Given the description of an element on the screen output the (x, y) to click on. 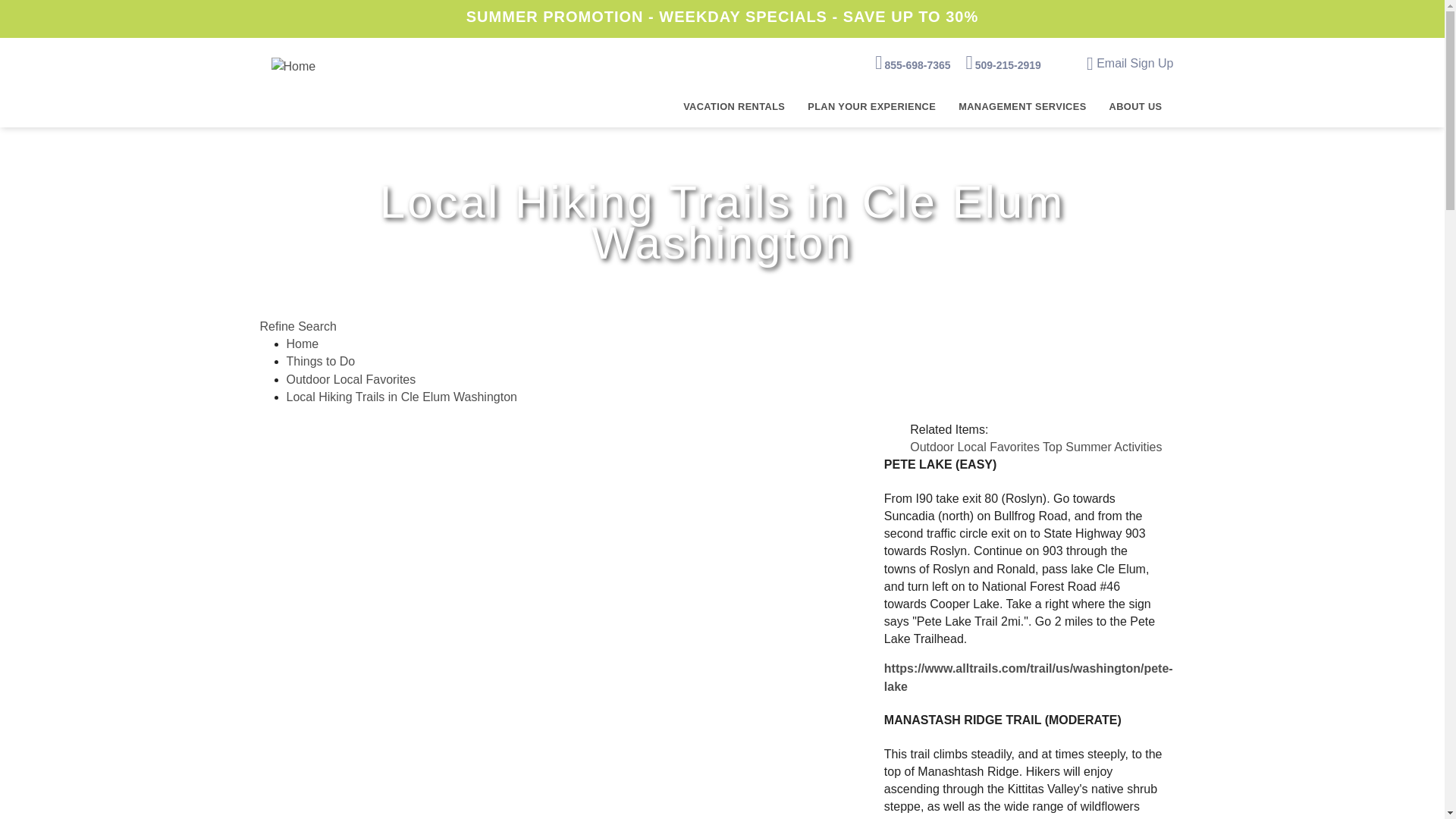
PLAN YOUR EXPERIENCE (871, 108)
855-698-7365 (912, 62)
509-215-2919 (1003, 62)
VACATION RENTALS (733, 108)
Email Sign Up (1129, 62)
MANAGEMENT SERVICES (1022, 108)
Home (292, 65)
ABOUT US (1135, 108)
